Given the description of an element on the screen output the (x, y) to click on. 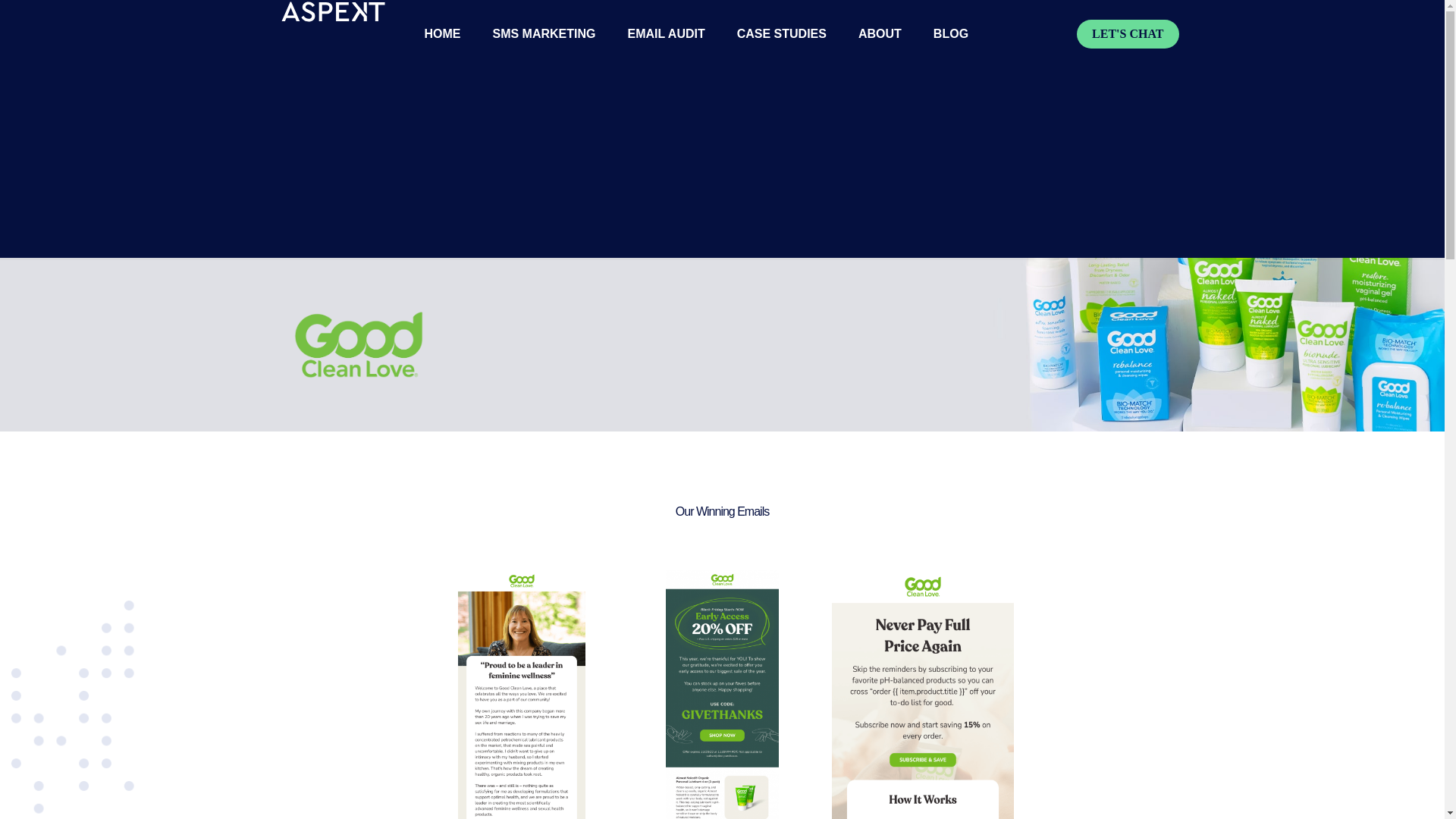
SMS MARKETING (543, 33)
LET'S CHAT (1127, 33)
CASE STUDIES (781, 33)
ASPEKT (333, 11)
BLOG (950, 33)
EMAIL AUDIT (665, 33)
HOME (441, 33)
ABOUT (880, 33)
